Given the description of an element on the screen output the (x, y) to click on. 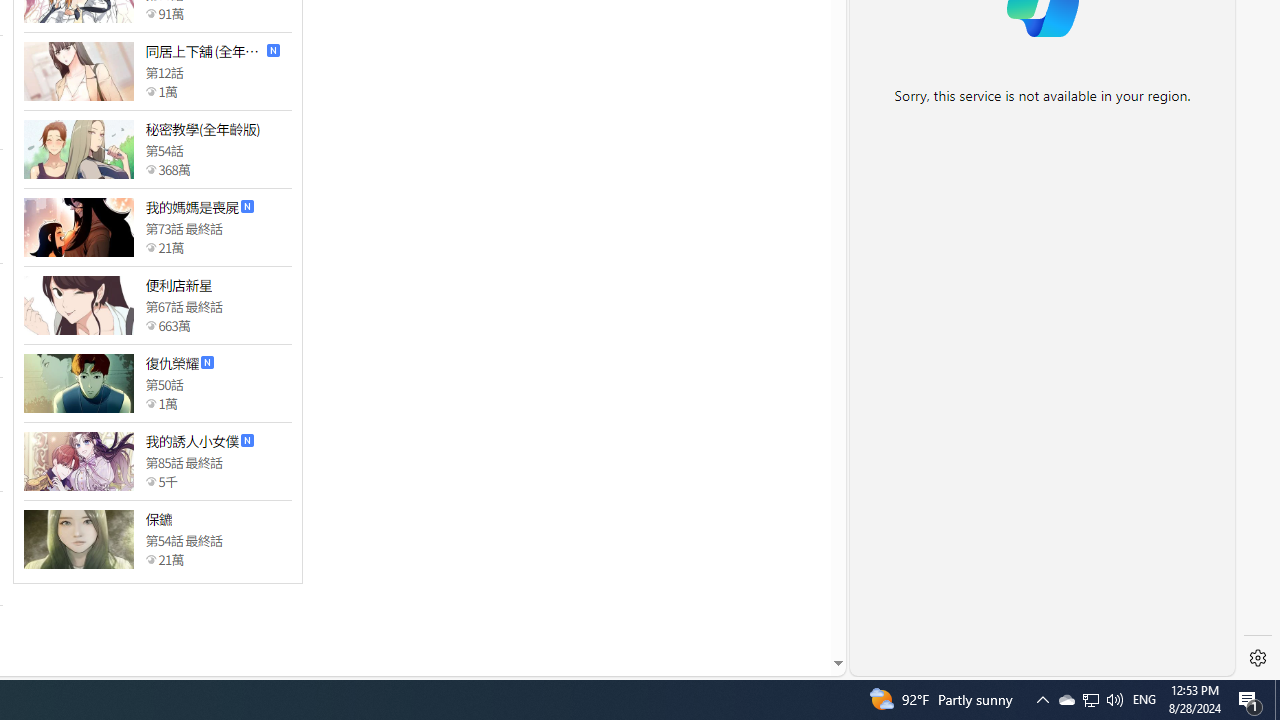
Class: thumb_img (78, 538)
Class: epicon_starpoint (150, 559)
